Given the description of an element on the screen output the (x, y) to click on. 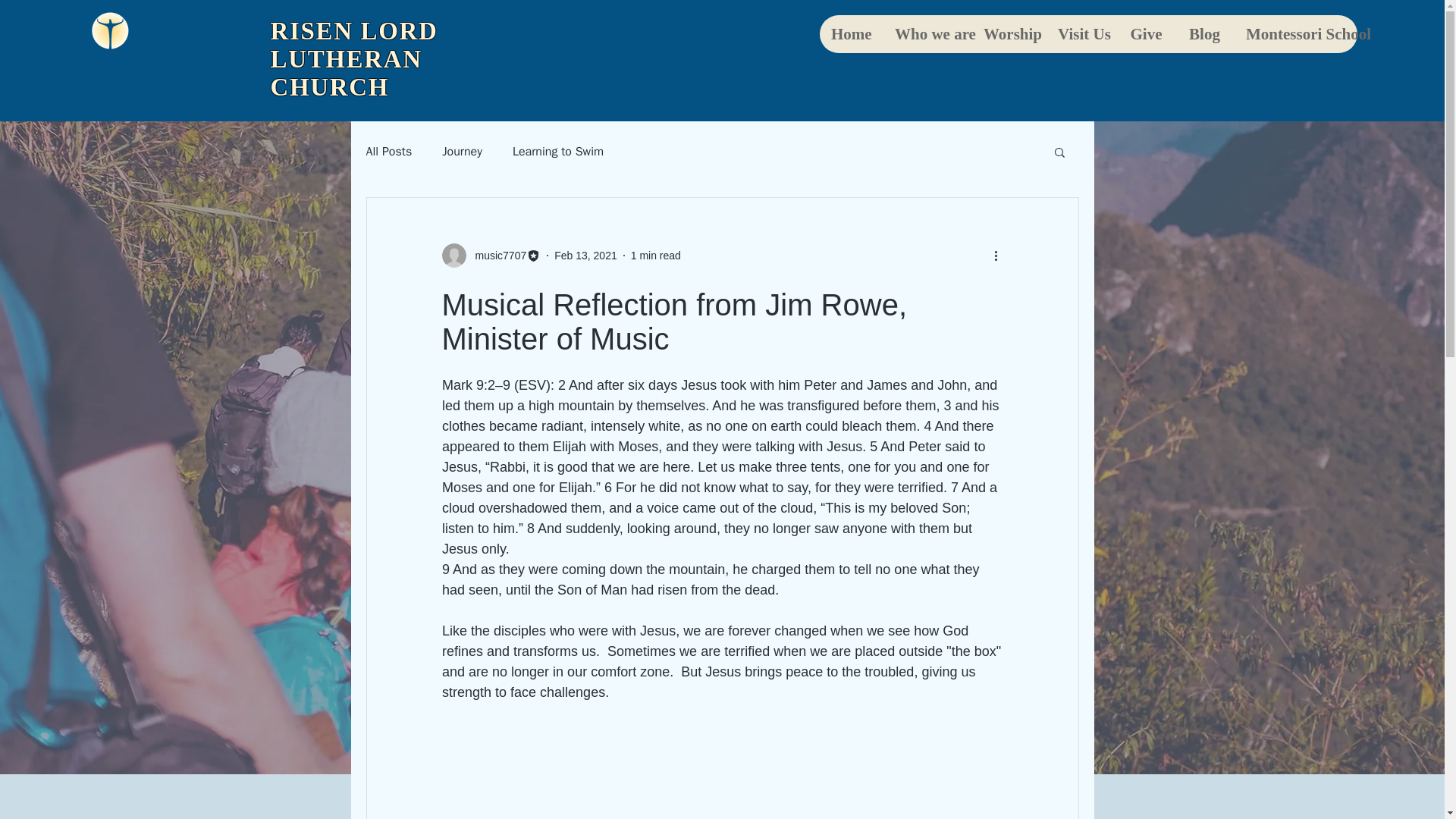
All Posts (388, 151)
music7707 (495, 254)
Worship (1008, 34)
Journey (461, 151)
Who we are (926, 34)
Visit Us (1080, 34)
Blog (1203, 34)
Give (1145, 34)
Home (850, 34)
music7707 (490, 255)
